Given the description of an element on the screen output the (x, y) to click on. 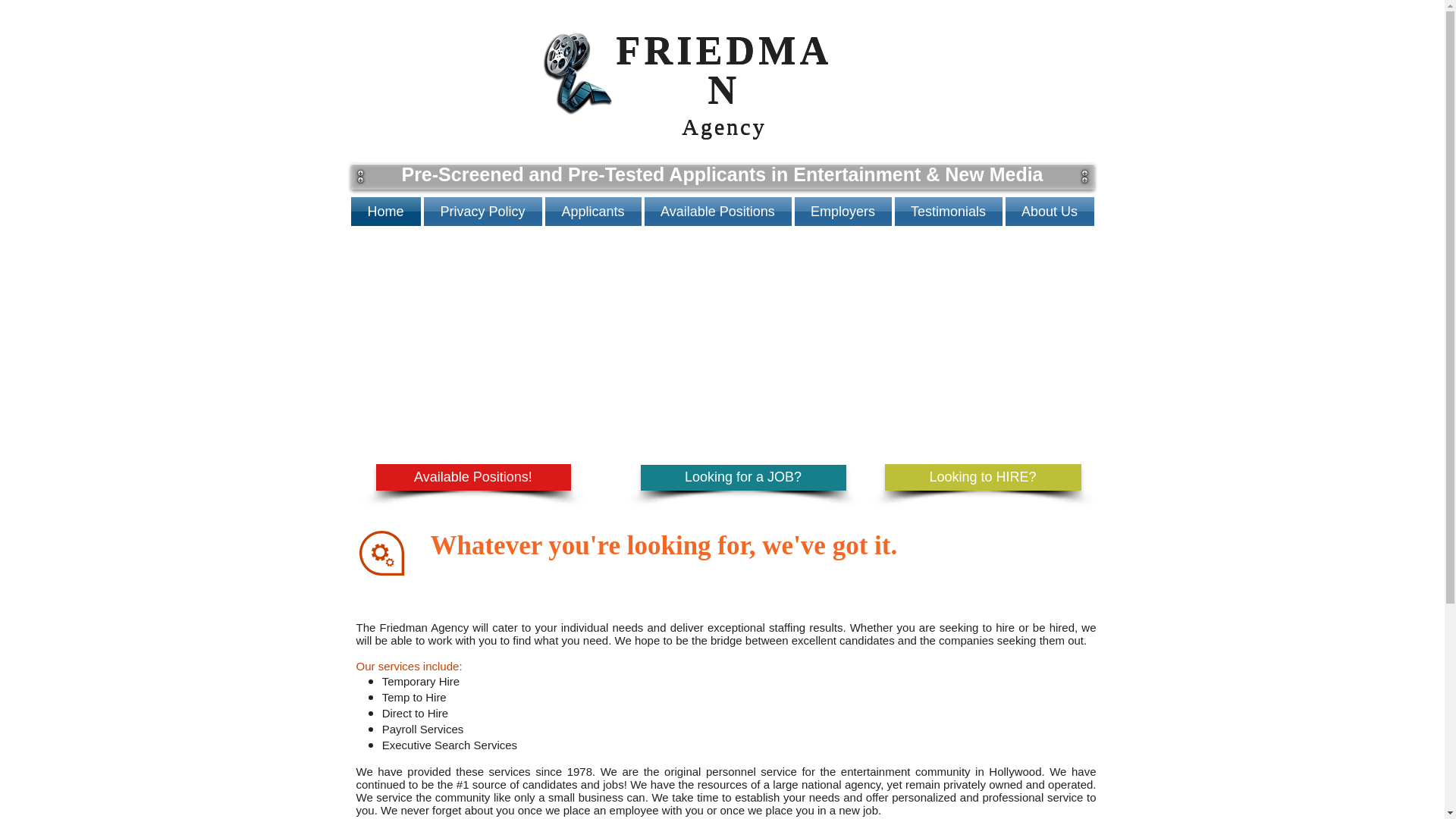
About Us (1049, 211)
Privacy Policy (482, 211)
Employers (843, 211)
Testimonials (948, 211)
Looking to HIRE? (981, 477)
Looking for a JOB? (742, 477)
Applicants (592, 211)
Available Positions (718, 211)
Home (386, 211)
Available Positions! (472, 477)
